Given the description of an element on the screen output the (x, y) to click on. 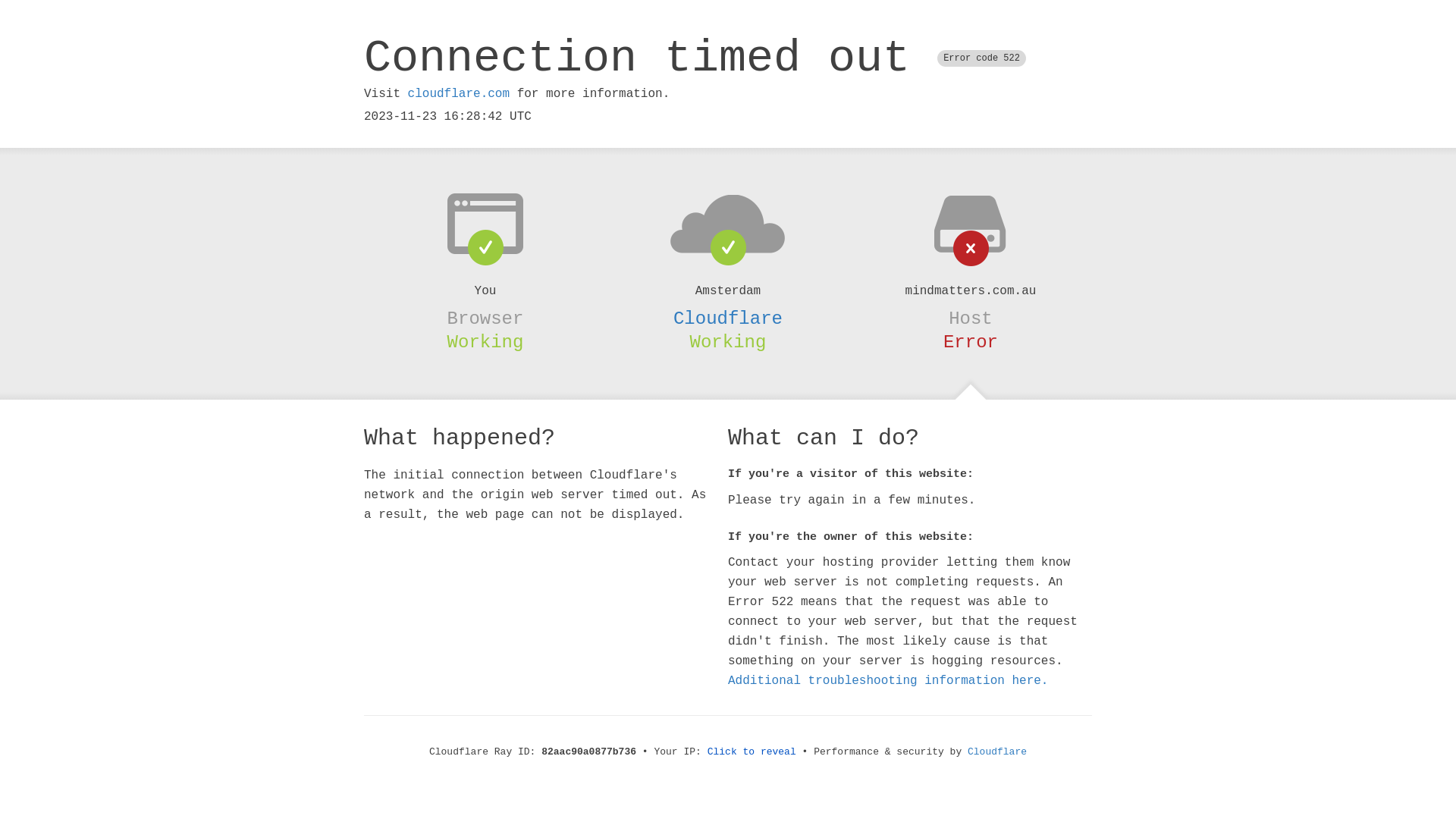
Cloudflare Element type: text (996, 751)
Cloudflare Element type: text (727, 318)
cloudflare.com Element type: text (458, 93)
Click to reveal Element type: text (751, 751)
Additional troubleshooting information here. Element type: text (888, 680)
